Given the description of an element on the screen output the (x, y) to click on. 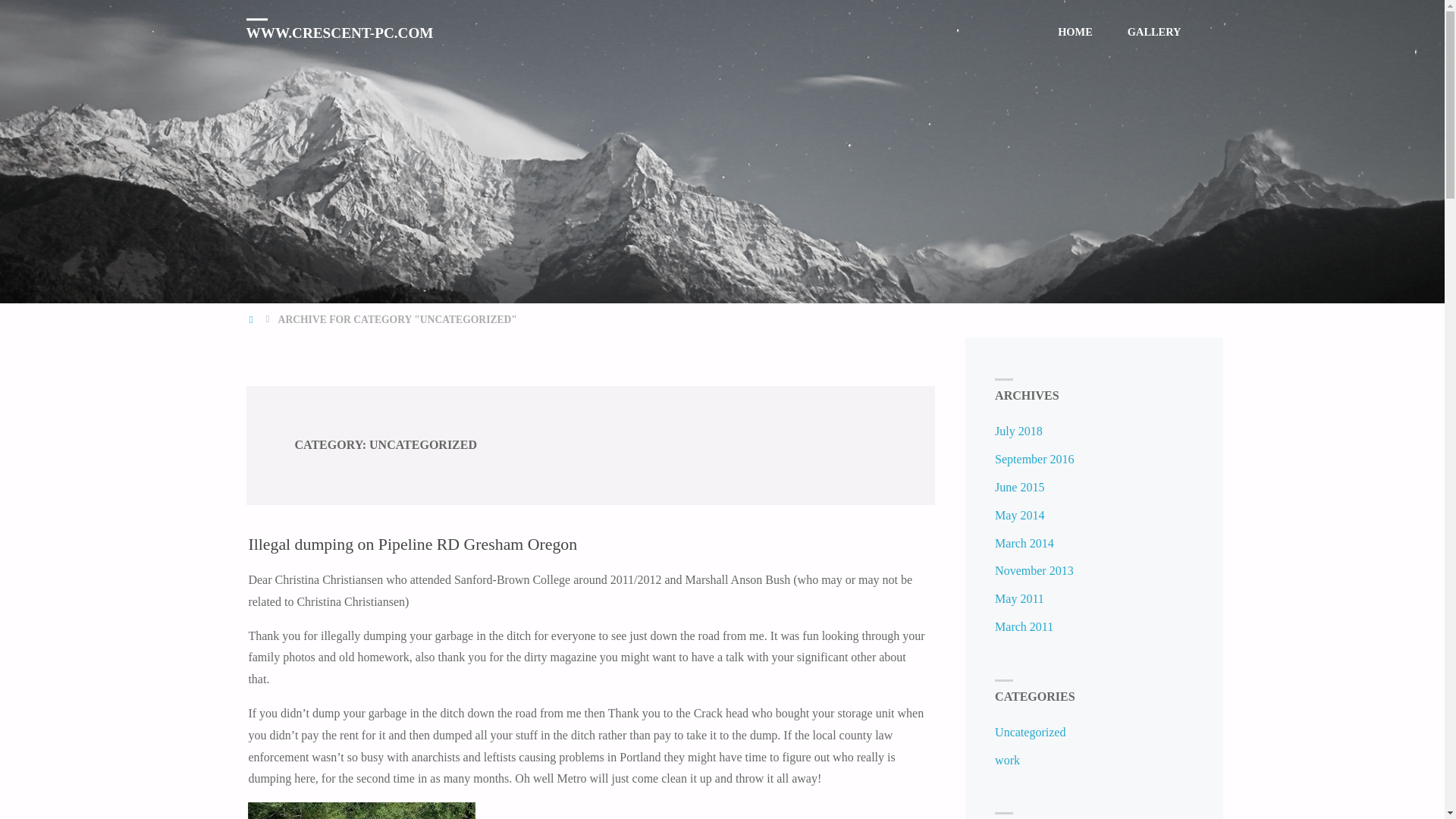
Home (252, 319)
GALLERY (1153, 32)
Computer service and repair (339, 32)
HOME (1075, 32)
Illegal dumping on Pipeline RD Gresham Oregon (411, 544)
HOME (252, 319)
WWW.CRESCENT-PC.COM (339, 32)
